Given the description of an element on the screen output the (x, y) to click on. 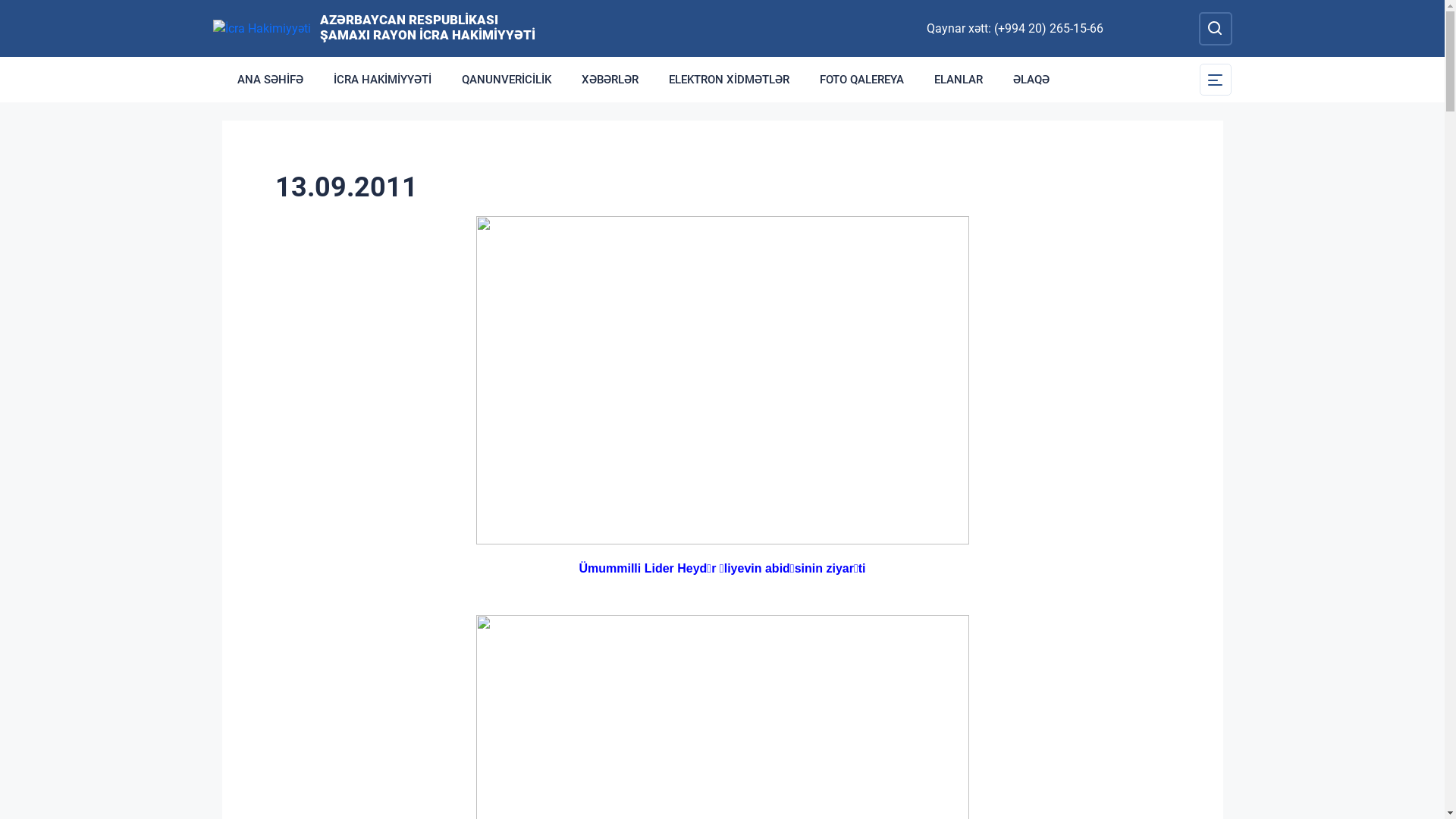
FOTO QALEREYA Element type: text (860, 79)
ELANLAR Element type: text (958, 79)
QANUNVERICILIK Element type: text (505, 79)
